Given the description of an element on the screen output the (x, y) to click on. 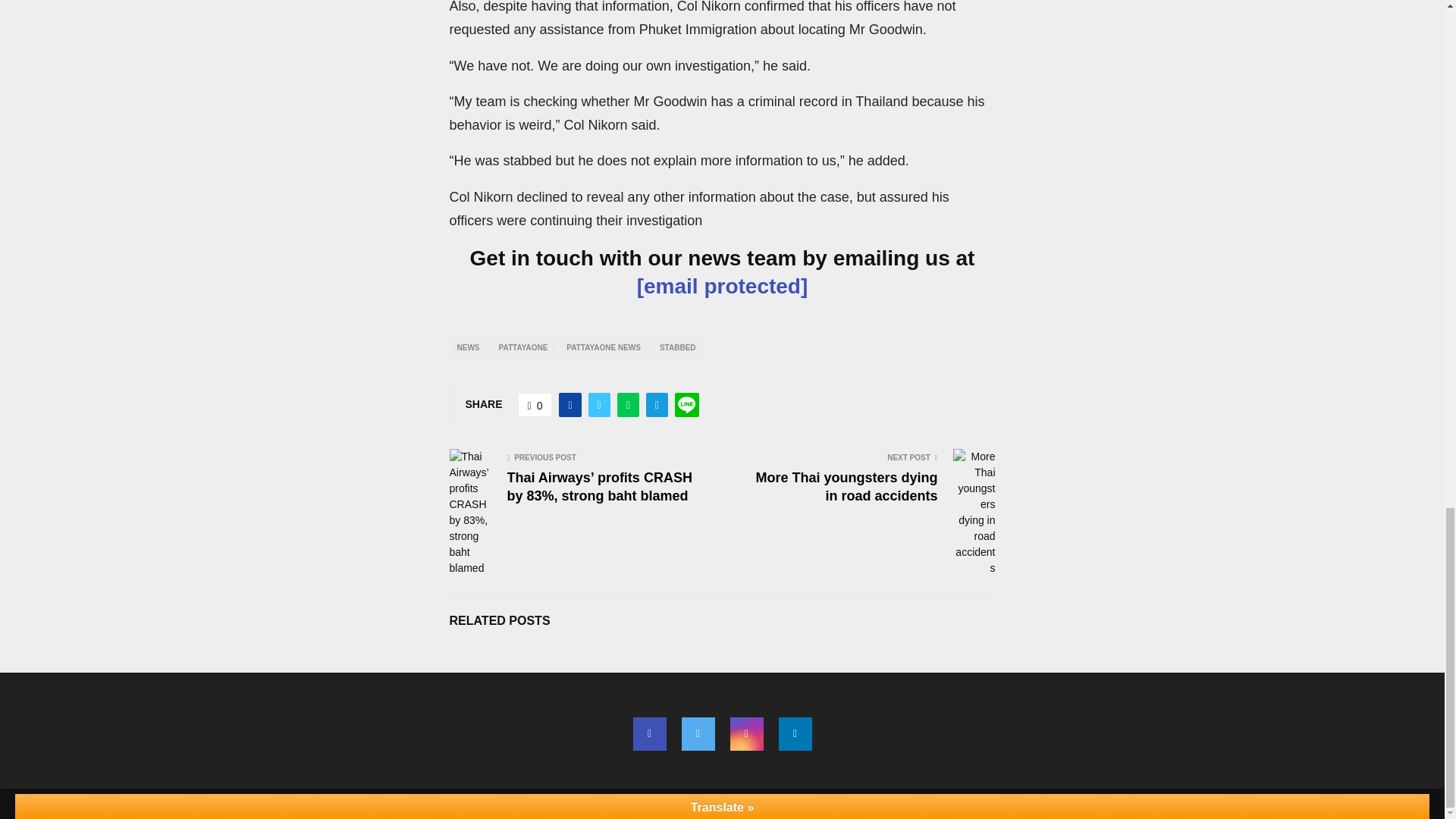
Like (535, 404)
Twitter (697, 734)
Instagram (745, 734)
Facebook (648, 734)
